Given the description of an element on the screen output the (x, y) to click on. 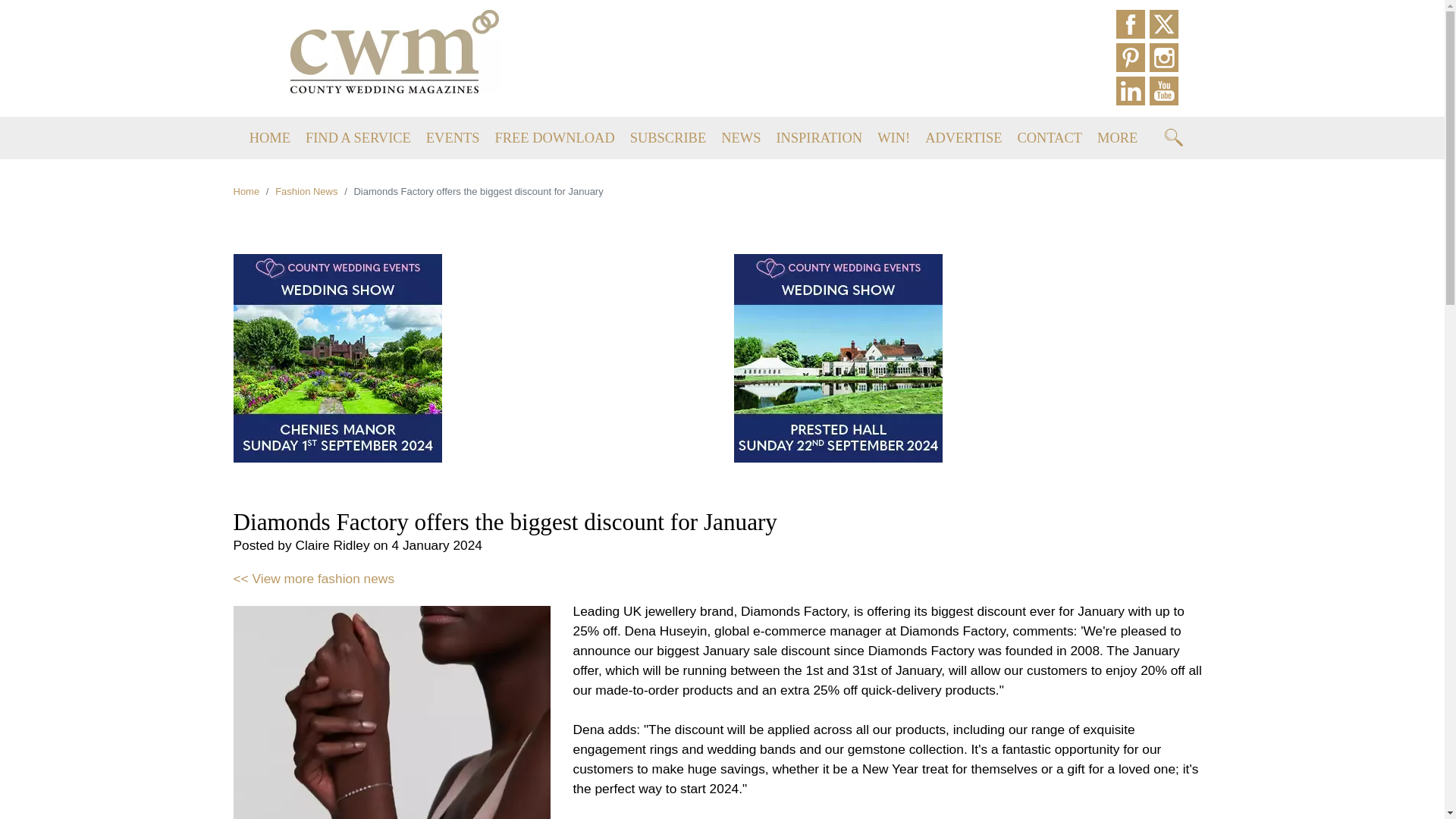
Follow County Wedding Magazines on Instagram (1166, 58)
HOME (268, 137)
Follow County Wedding Magazines on YouTube (1166, 92)
Follow County Wedding Magazines on Twitter (1166, 25)
Follow County Wedding Magazines on LinkedIn (1133, 92)
Find County Wedding Magazines on Facebook (1133, 25)
FIND A SERVICE (357, 137)
Follow County Wedding Magazines on Pinterest (1133, 58)
County Wedding Magazines (395, 50)
